Given the description of an element on the screen output the (x, y) to click on. 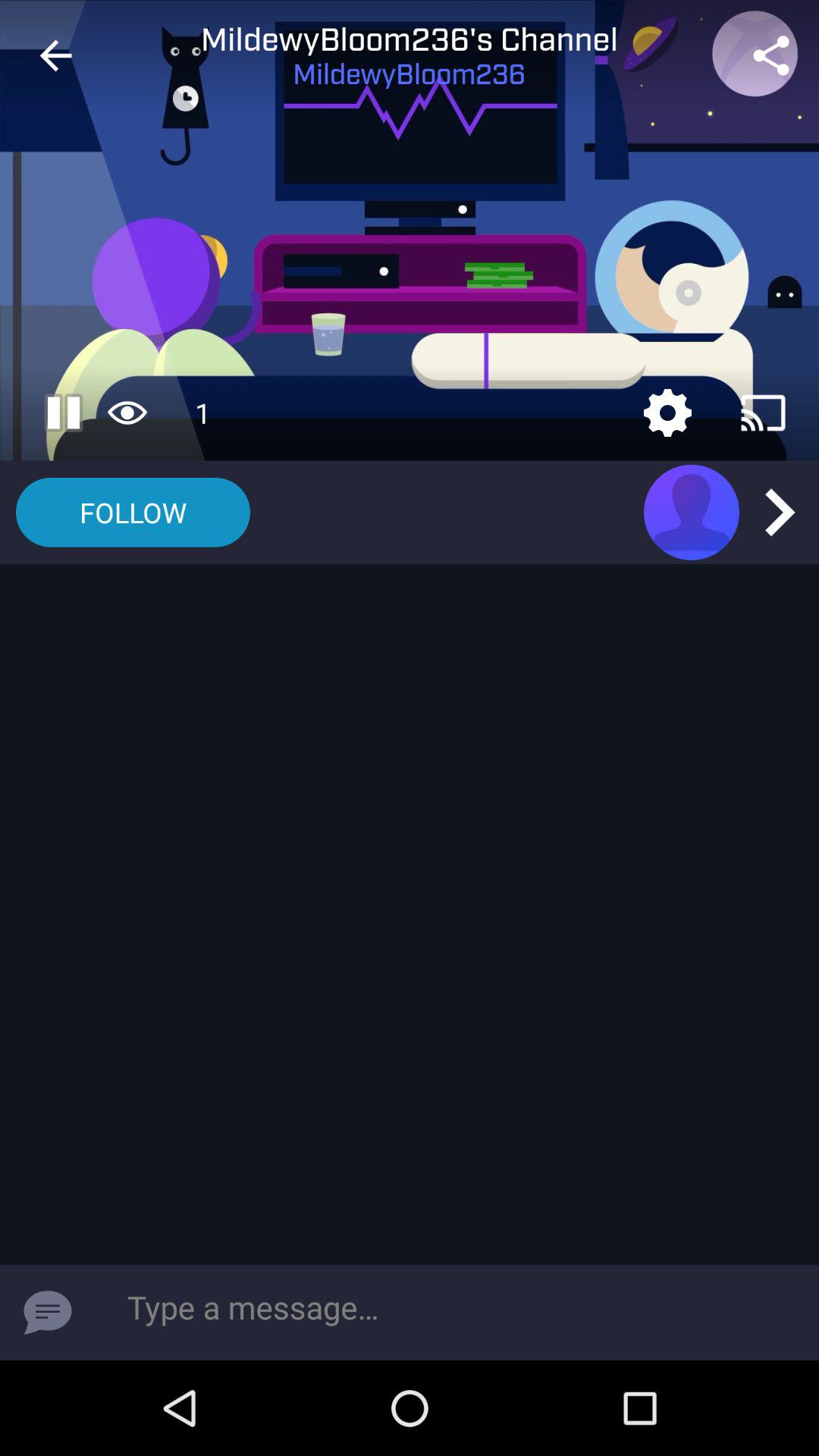
turn on item at the bottom left corner (47, 1312)
